Given the description of an element on the screen output the (x, y) to click on. 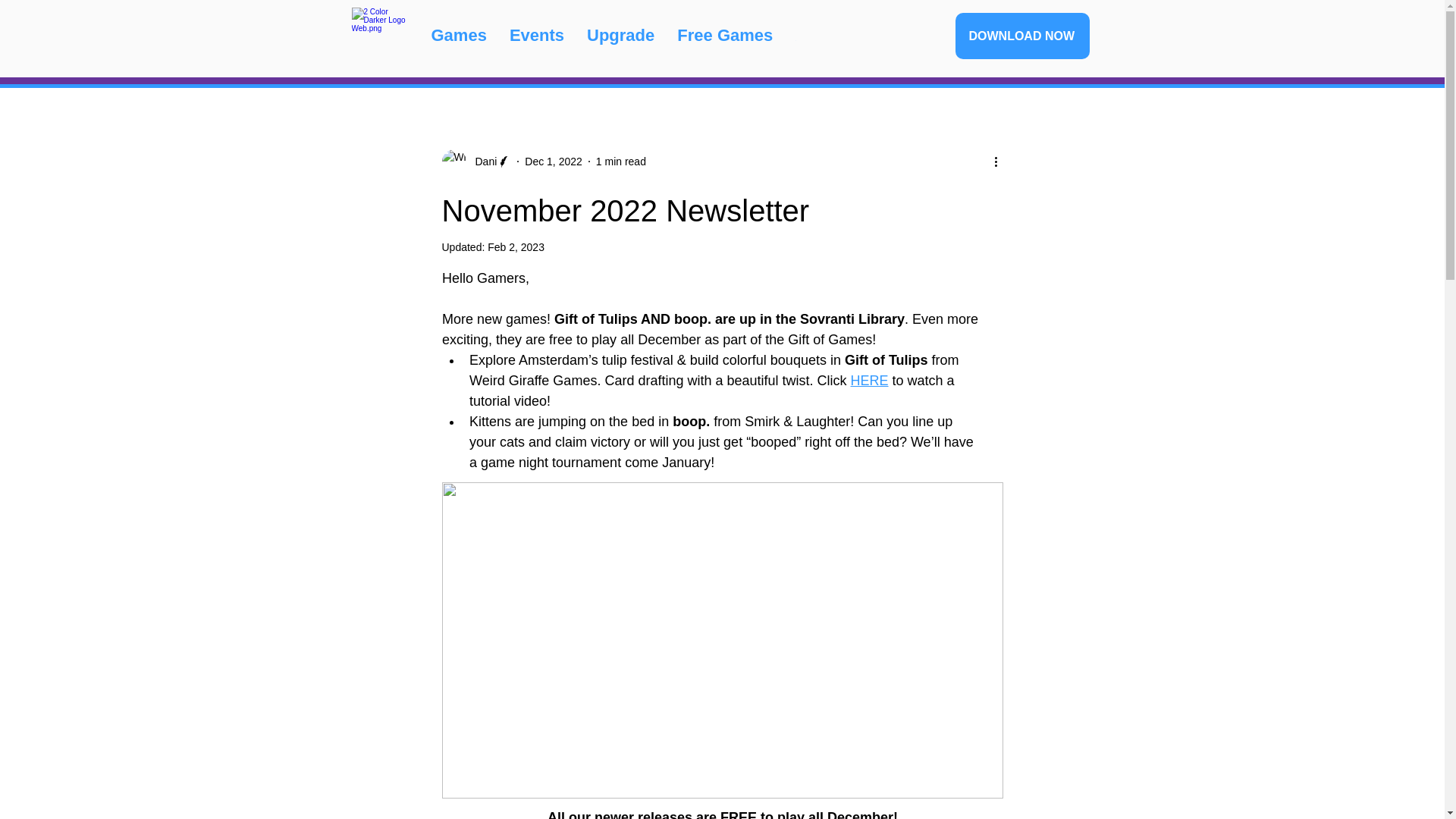
Dec 1, 2022 (553, 160)
Events (536, 38)
HERE (869, 380)
Dani (480, 160)
DOWNLOAD NOW (1022, 35)
Free Games (724, 38)
Games (458, 38)
Upgrade (620, 38)
Feb 2, 2023 (515, 246)
Dani (476, 161)
App Features (849, 38)
1 min read (620, 160)
